Given the description of an element on the screen output the (x, y) to click on. 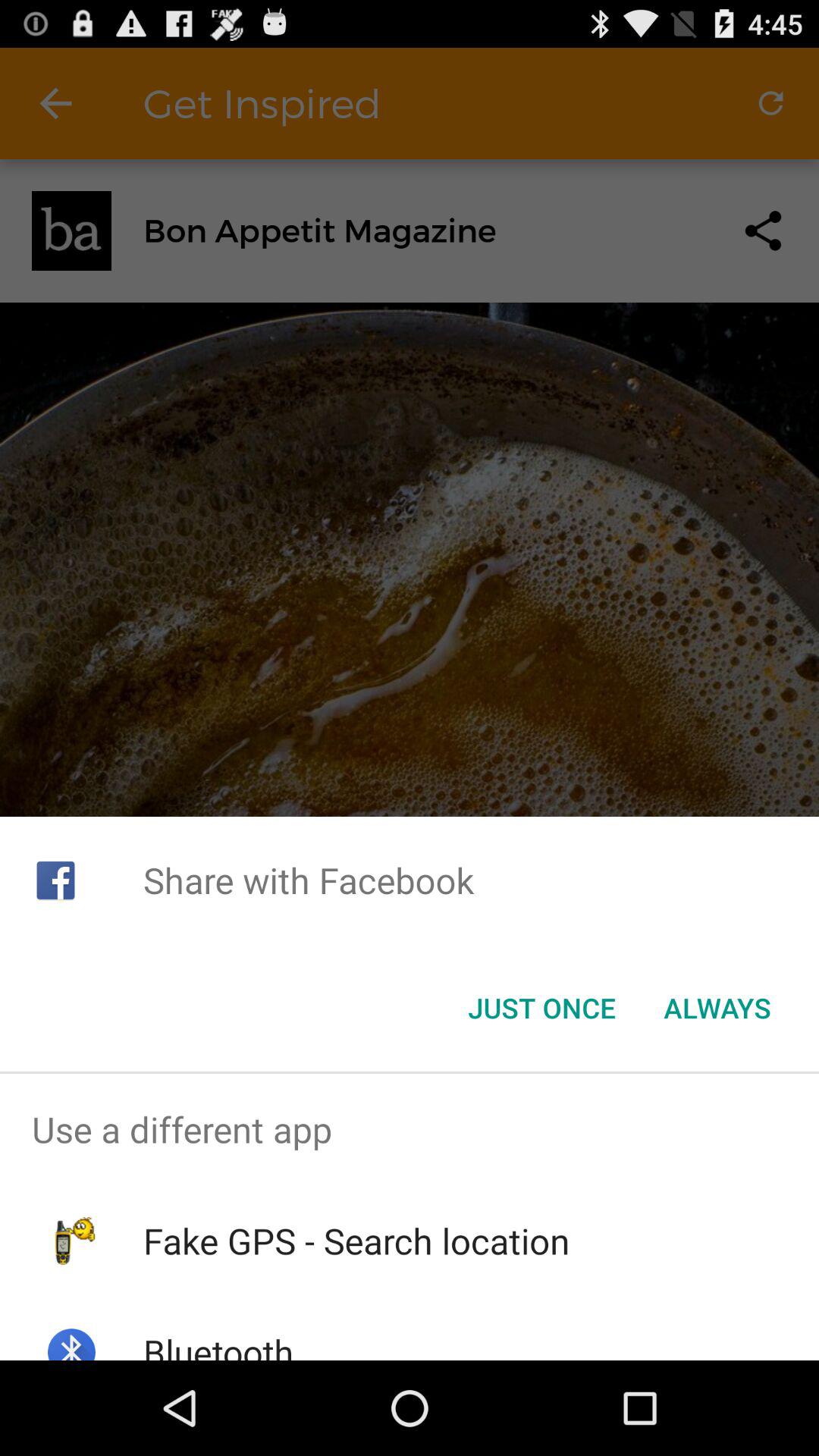
click the button at the bottom right corner (717, 1007)
